Given the description of an element on the screen output the (x, y) to click on. 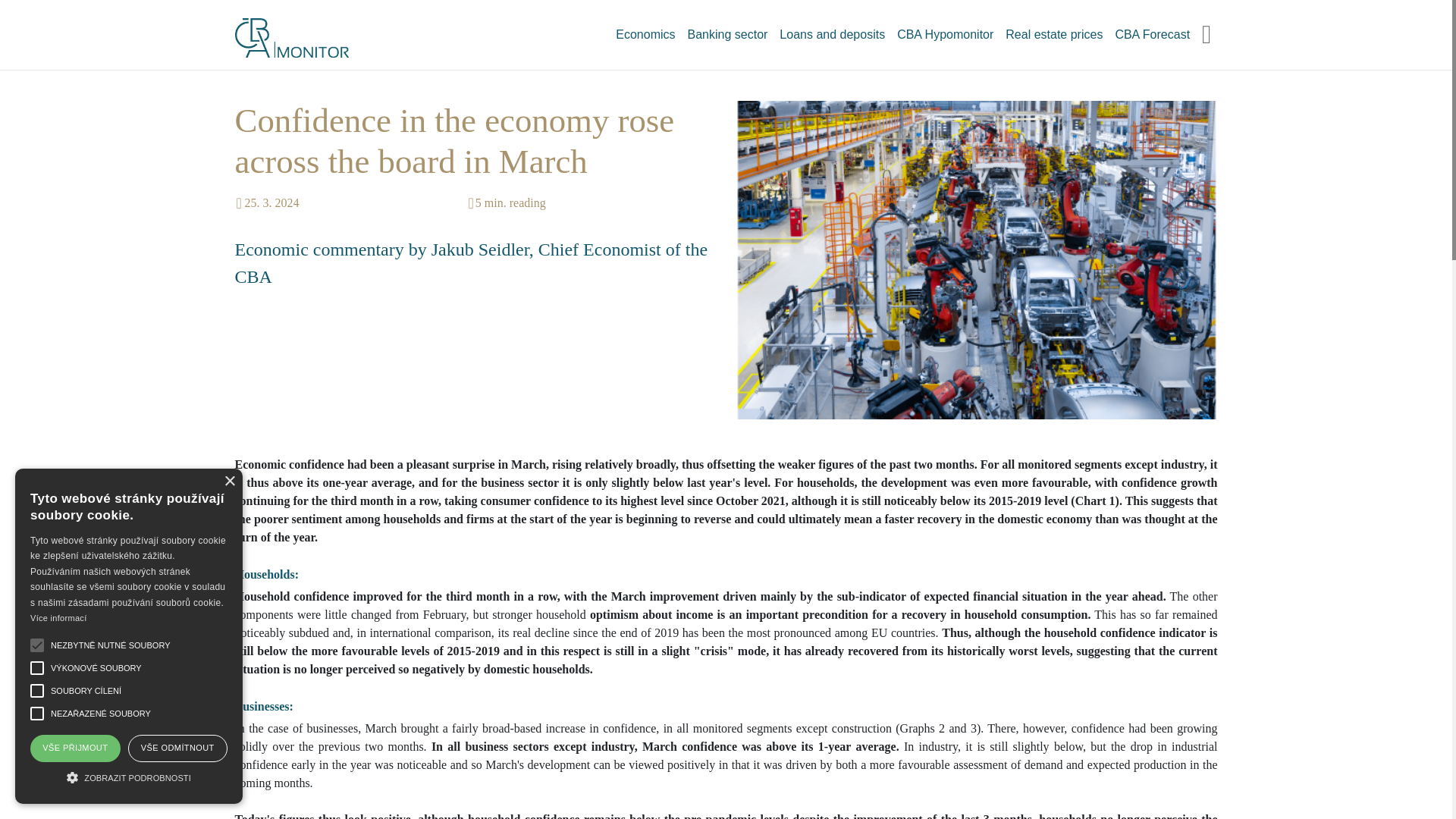
Banking sector (727, 34)
Real estate prices (1053, 34)
CBA Forecast (1151, 34)
CBA Hypomonitor (944, 34)
Economics (645, 34)
Loans and deposits (832, 34)
